Given the description of an element on the screen output the (x, y) to click on. 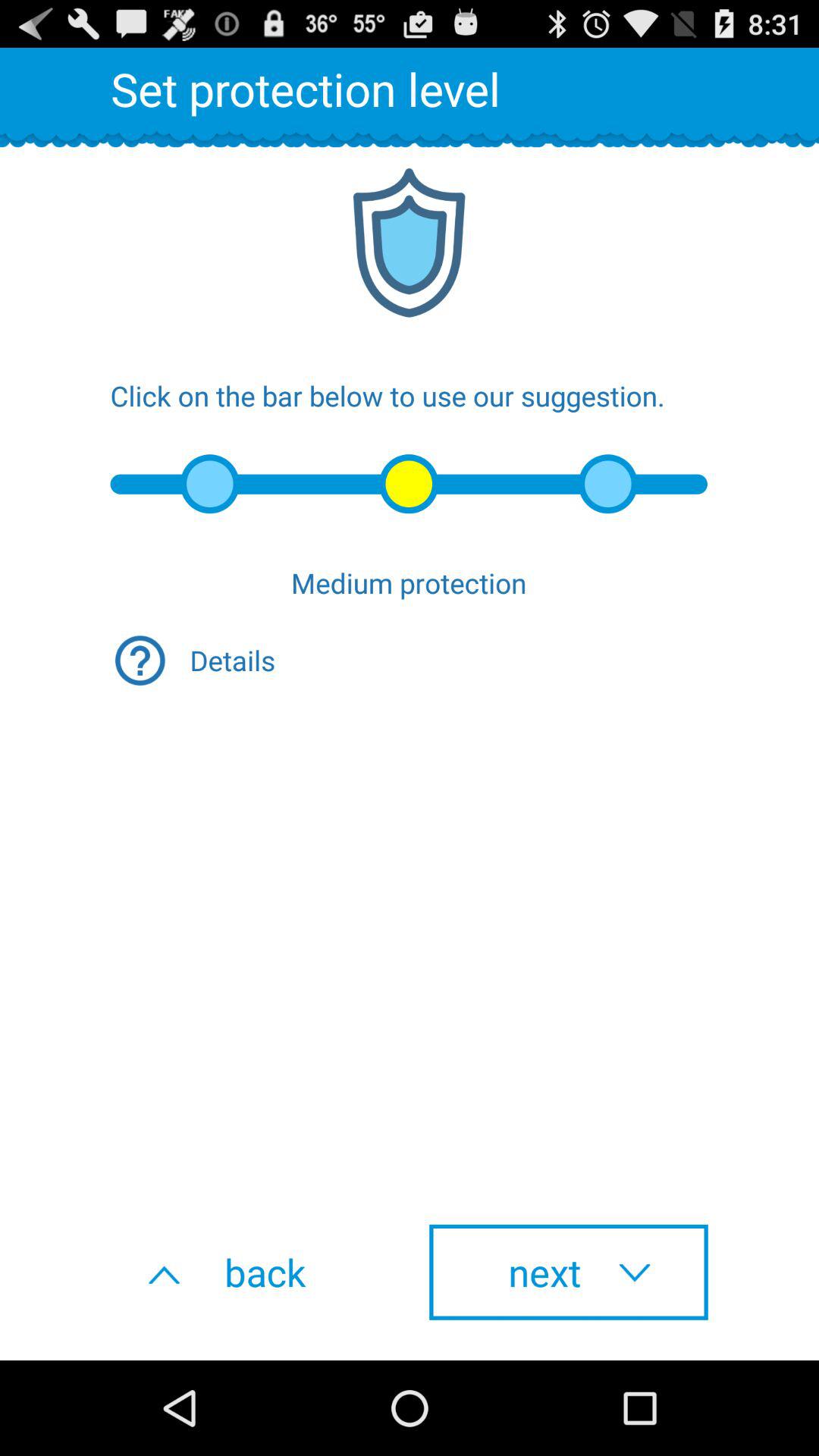
click icon next to the next (249, 1272)
